Given the description of an element on the screen output the (x, y) to click on. 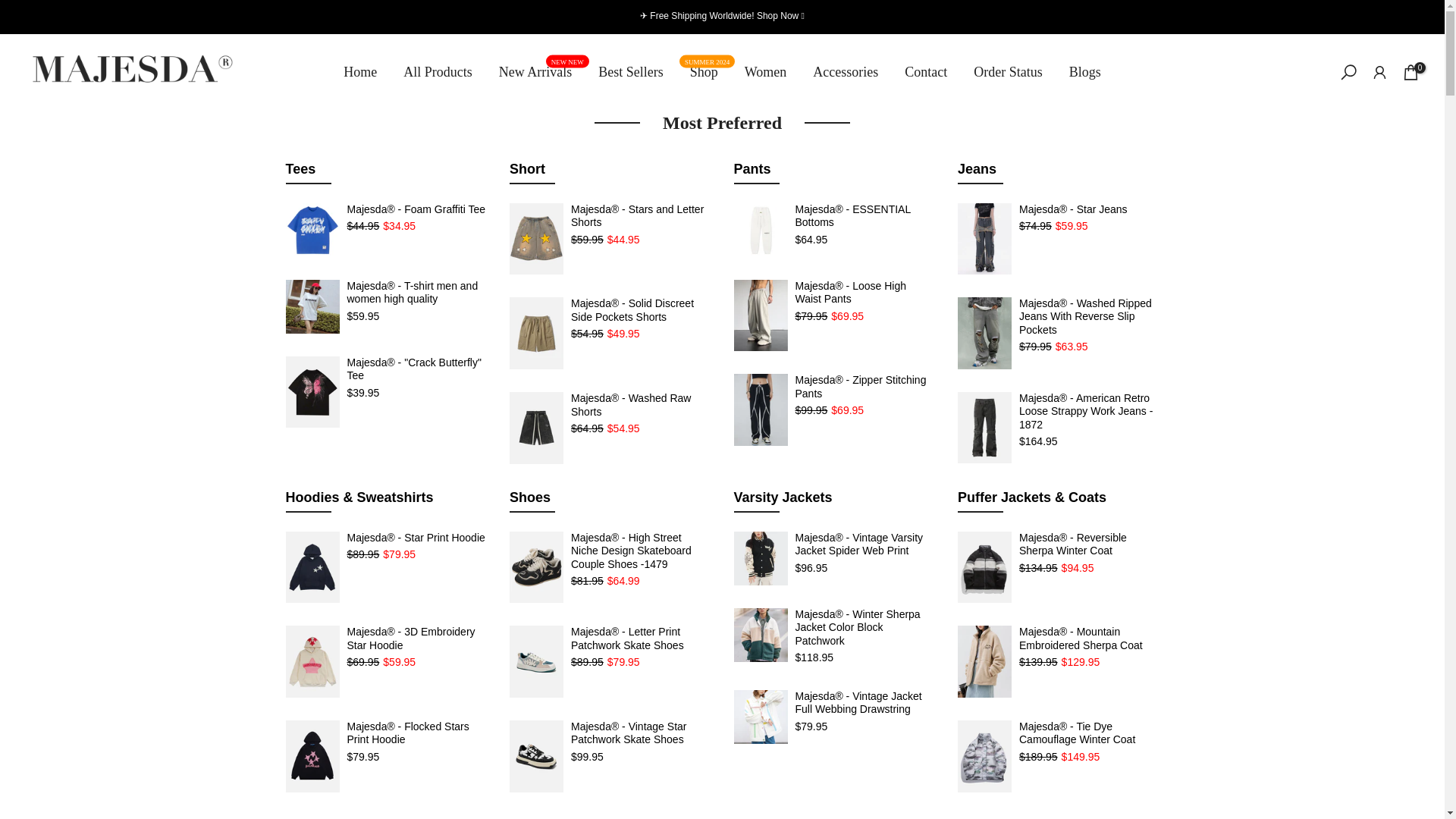
All Products (438, 71)
Best Sellers (703, 71)
Skip to content (534, 71)
Women (631, 71)
Home (10, 7)
